Given the description of an element on the screen output the (x, y) to click on. 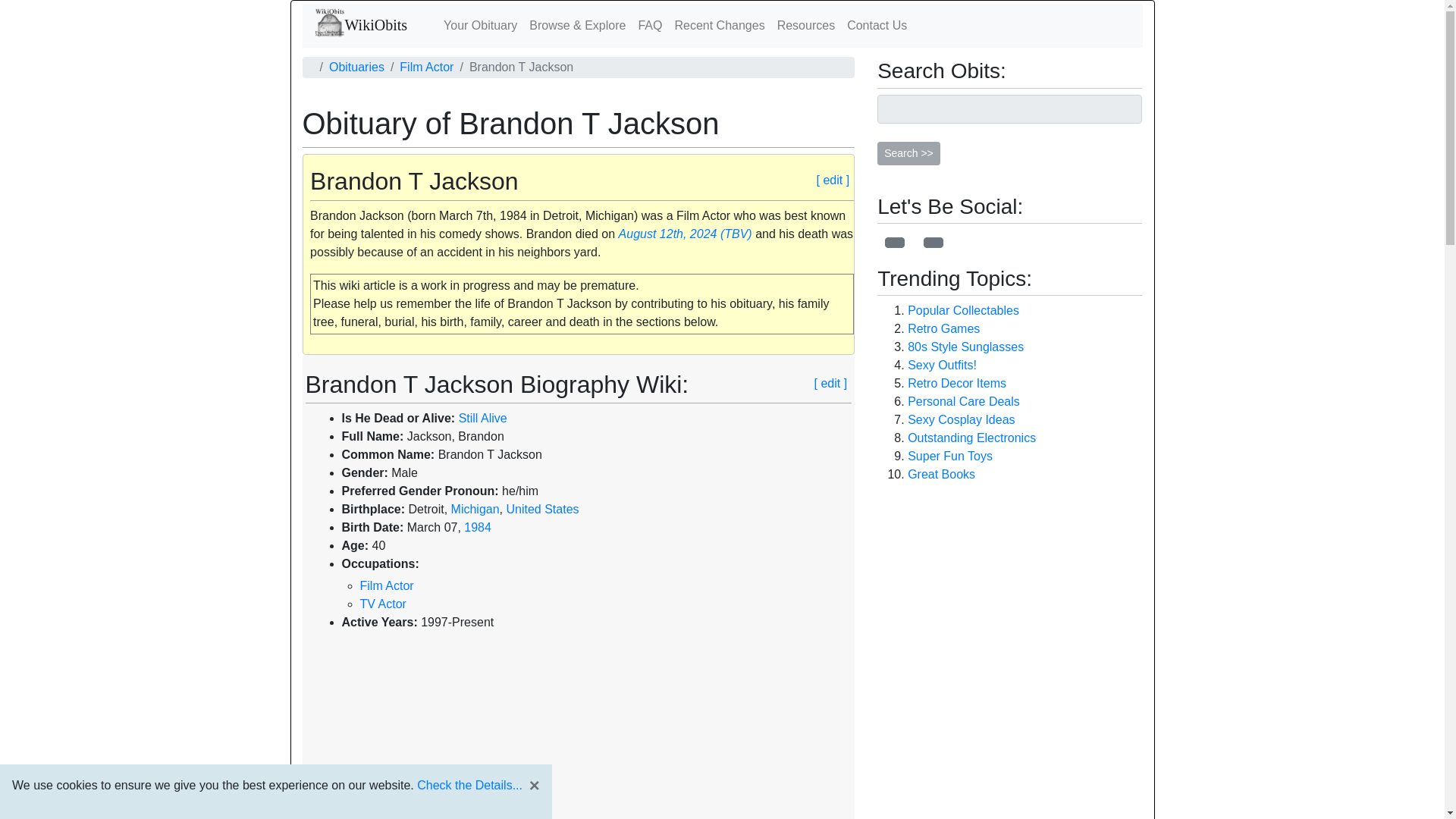
Check the Details... (469, 784)
Edit this Biography (830, 383)
View our Cookie Policy (469, 784)
Born in 1984 (478, 526)
and a TV Actor (382, 603)
Obituaries (356, 66)
United States (541, 508)
Michigan (475, 508)
FAQ (649, 25)
Film Actor (425, 66)
